Given the description of an element on the screen output the (x, y) to click on. 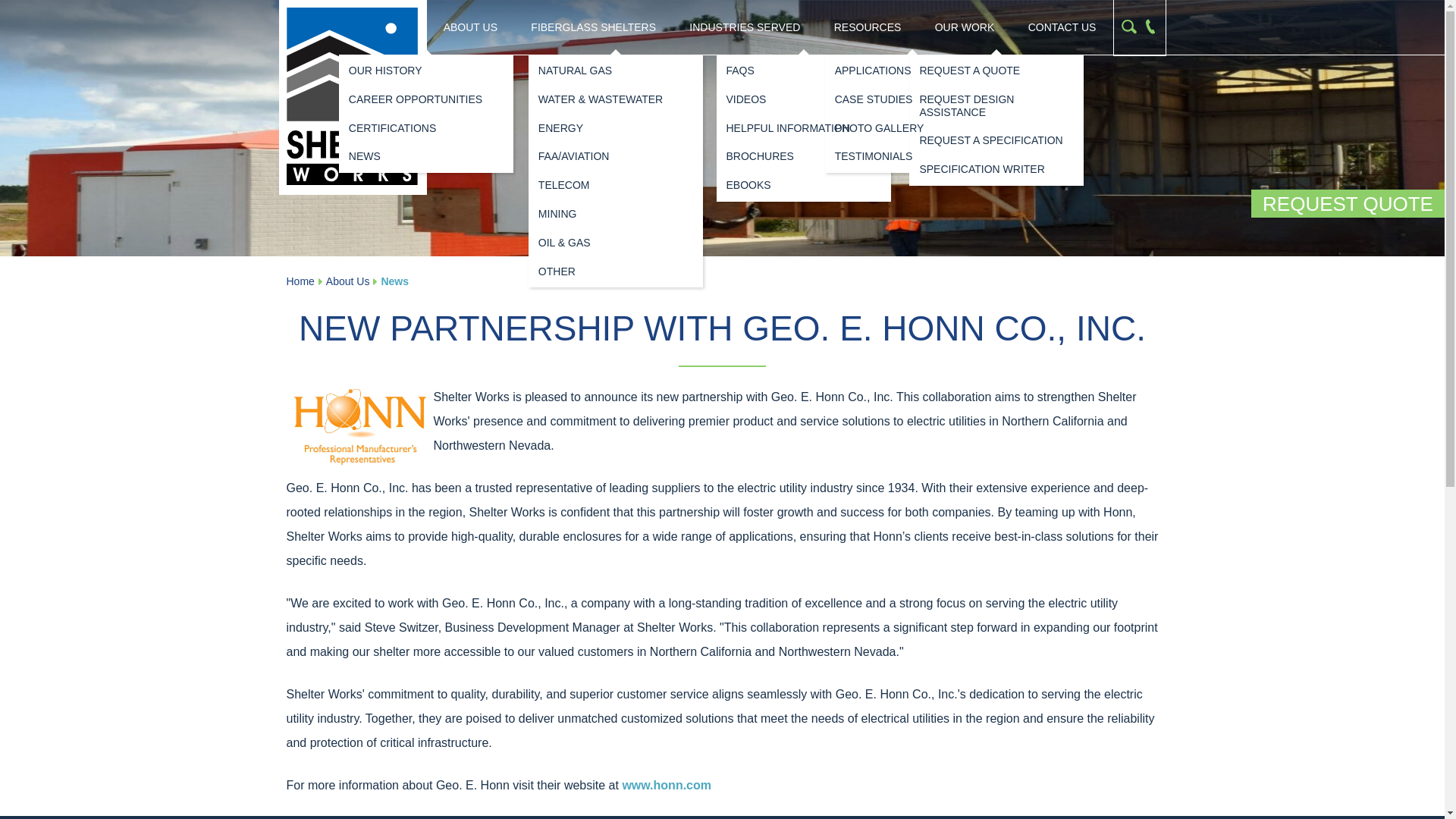
CAREER OPPORTUNITIES (425, 99)
ENERGY (615, 128)
OUR HISTORY (425, 70)
FIBERGLASS SHELTERS (592, 27)
CERTIFICATIONS (425, 128)
NEWS (425, 156)
INDUSTRIES SERVED (744, 27)
NATURAL GAS (615, 70)
ABOUT US (469, 27)
